Given the description of an element on the screen output the (x, y) to click on. 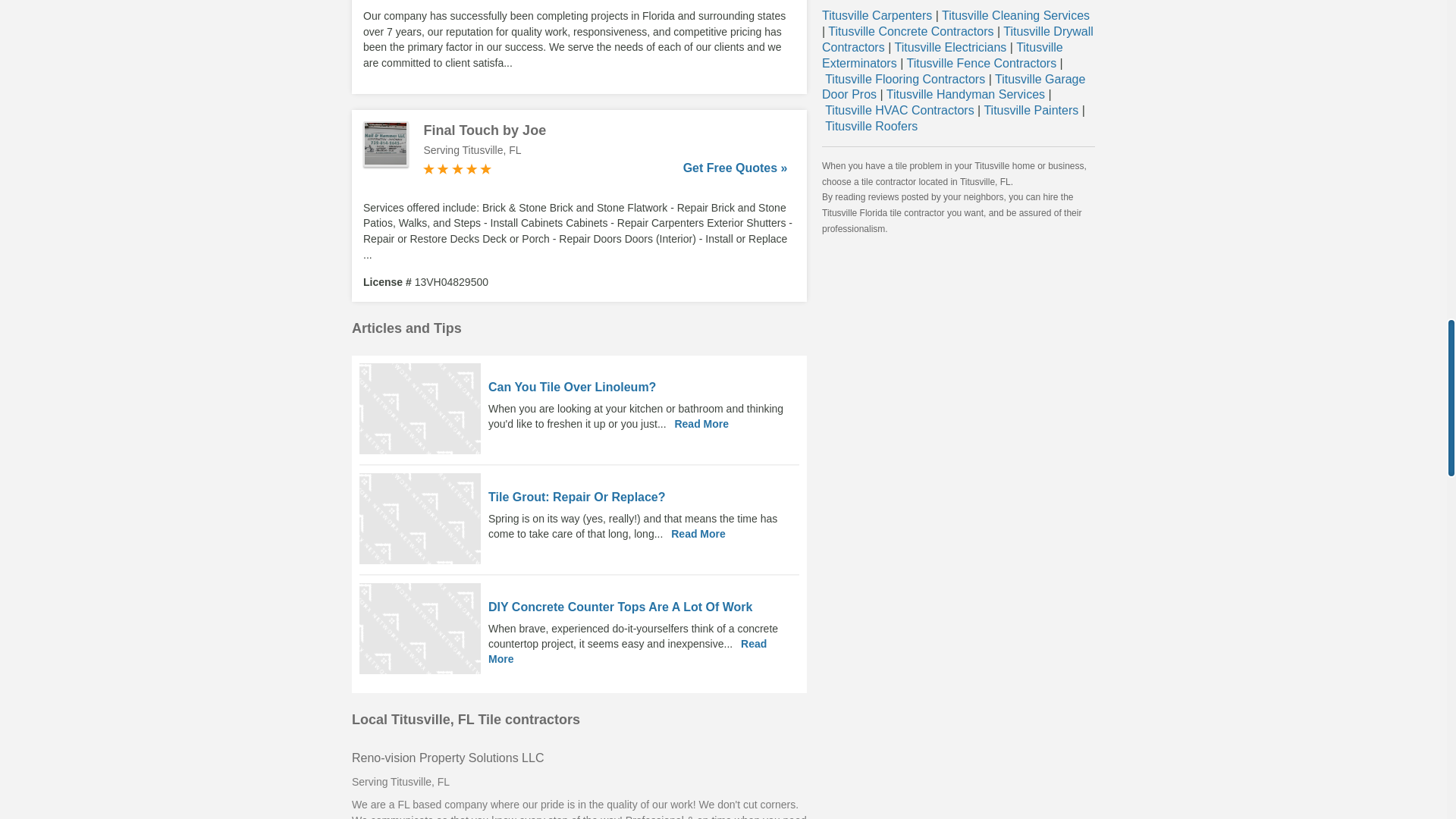
5 star rating (457, 169)
